Given the description of an element on the screen output the (x, y) to click on. 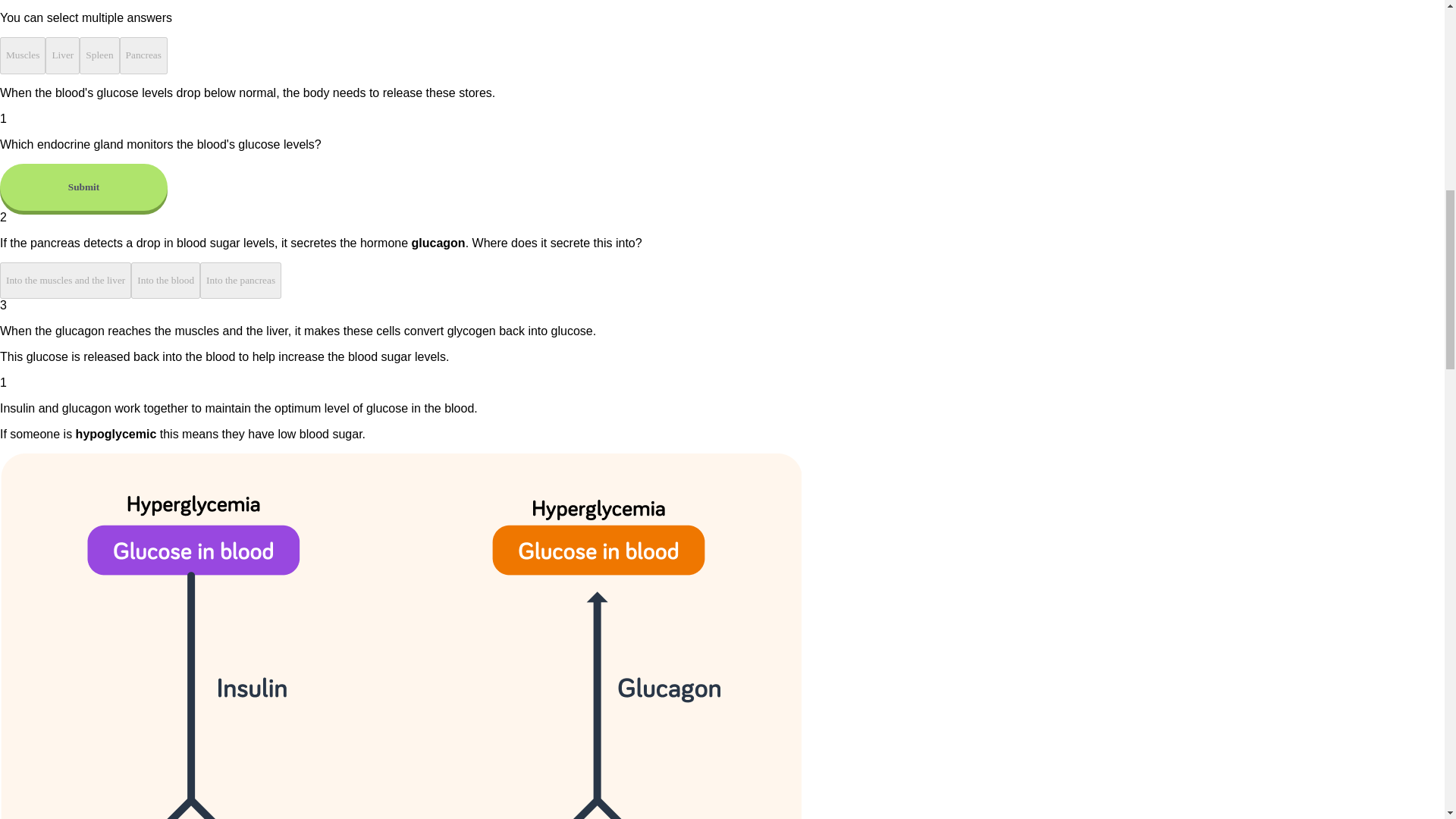
Liver (62, 55)
Into the blood (165, 280)
Spleen (99, 55)
Into the pancreas (240, 280)
Pancreas (143, 55)
Into the muscles and the liver (65, 280)
Submit (83, 186)
Muscles (22, 55)
